Given the description of an element on the screen output the (x, y) to click on. 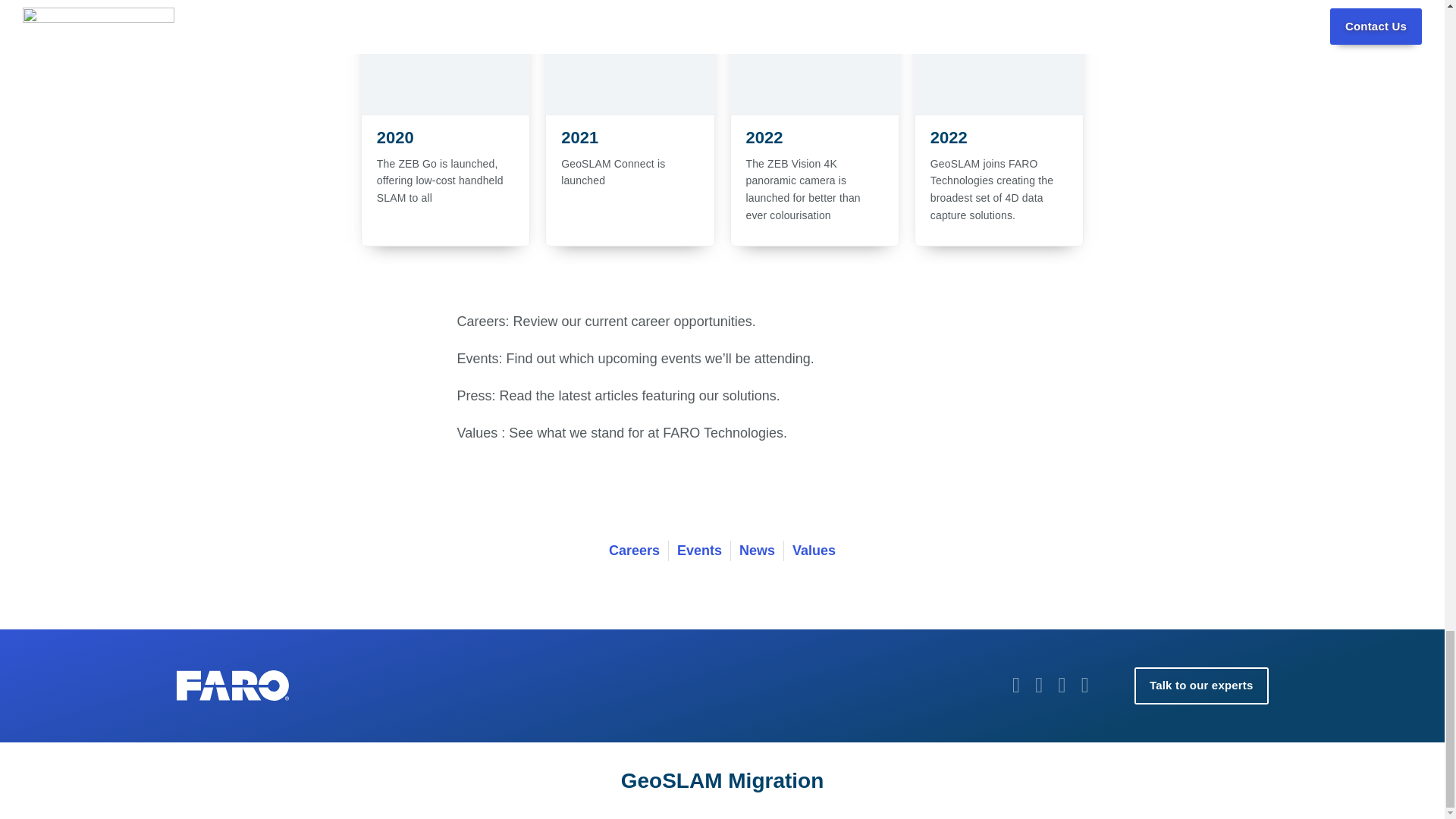
Careers (633, 549)
Talk to our experts (1201, 685)
News (756, 549)
Events (699, 549)
Values (813, 549)
